Given the description of an element on the screen output the (x, y) to click on. 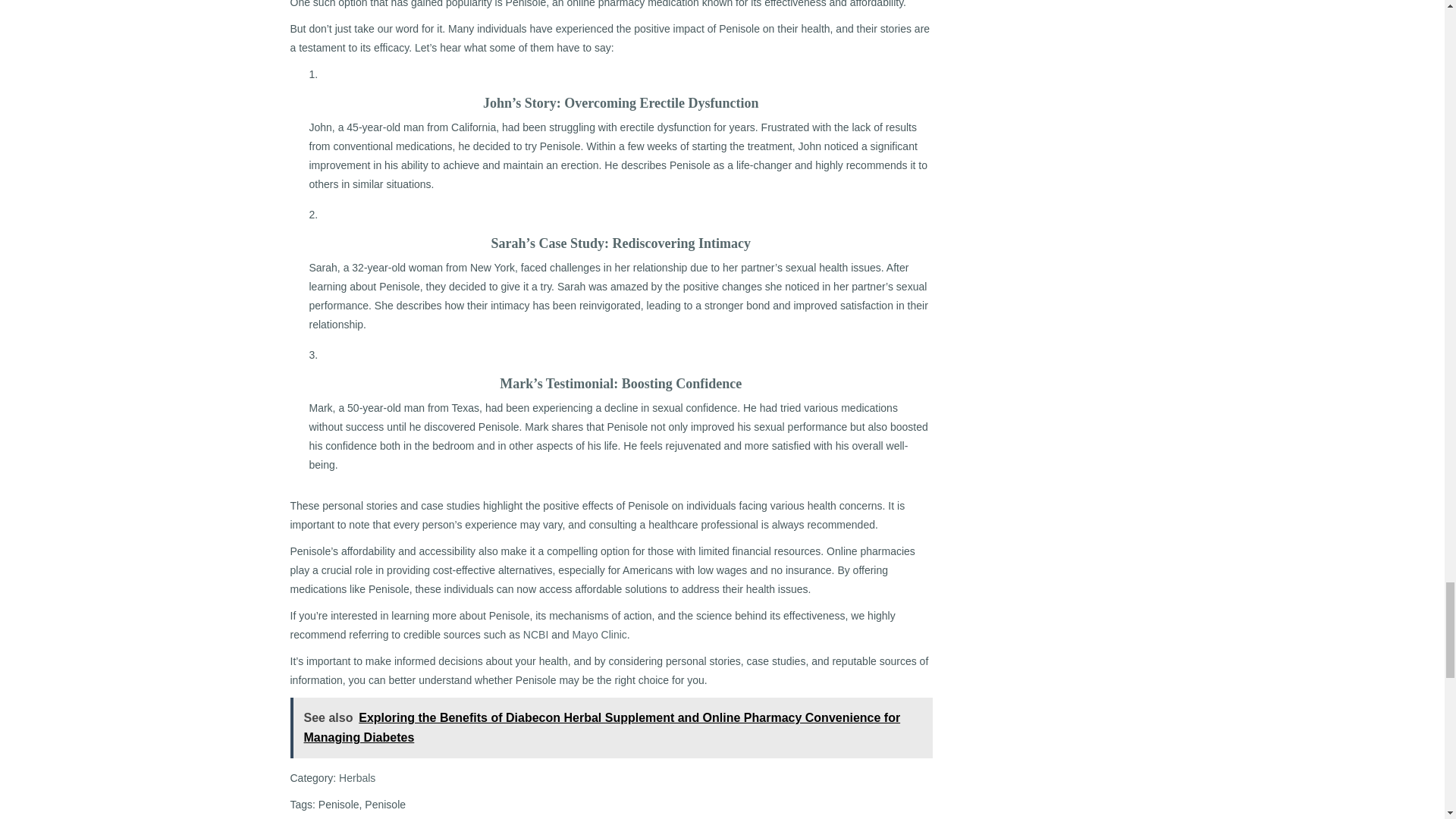
Herbals (357, 777)
Mayo Clinic (599, 634)
NCBI (535, 634)
